Given the description of an element on the screen output the (x, y) to click on. 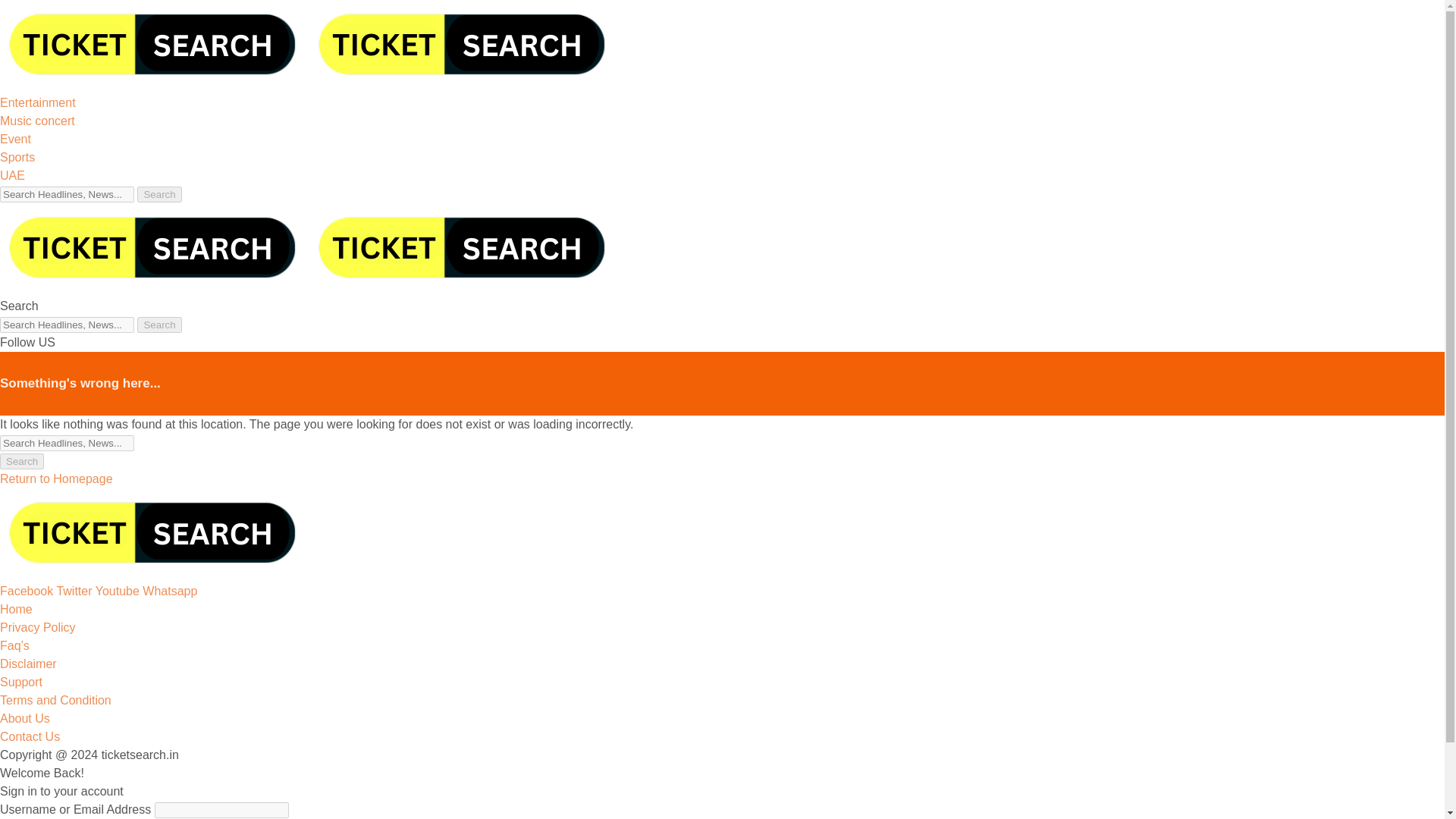
Home (16, 608)
Facebook (28, 590)
Search (158, 324)
Sports (17, 156)
Return to Homepage (56, 478)
Ticketsearch (309, 287)
Ticketsearch (309, 83)
Music concert (37, 120)
Terms and Condition (56, 699)
Whatsapp (169, 590)
Search (158, 324)
Search (21, 461)
Search (21, 461)
Disclaimer (28, 663)
Twitter (75, 590)
